Given the description of an element on the screen output the (x, y) to click on. 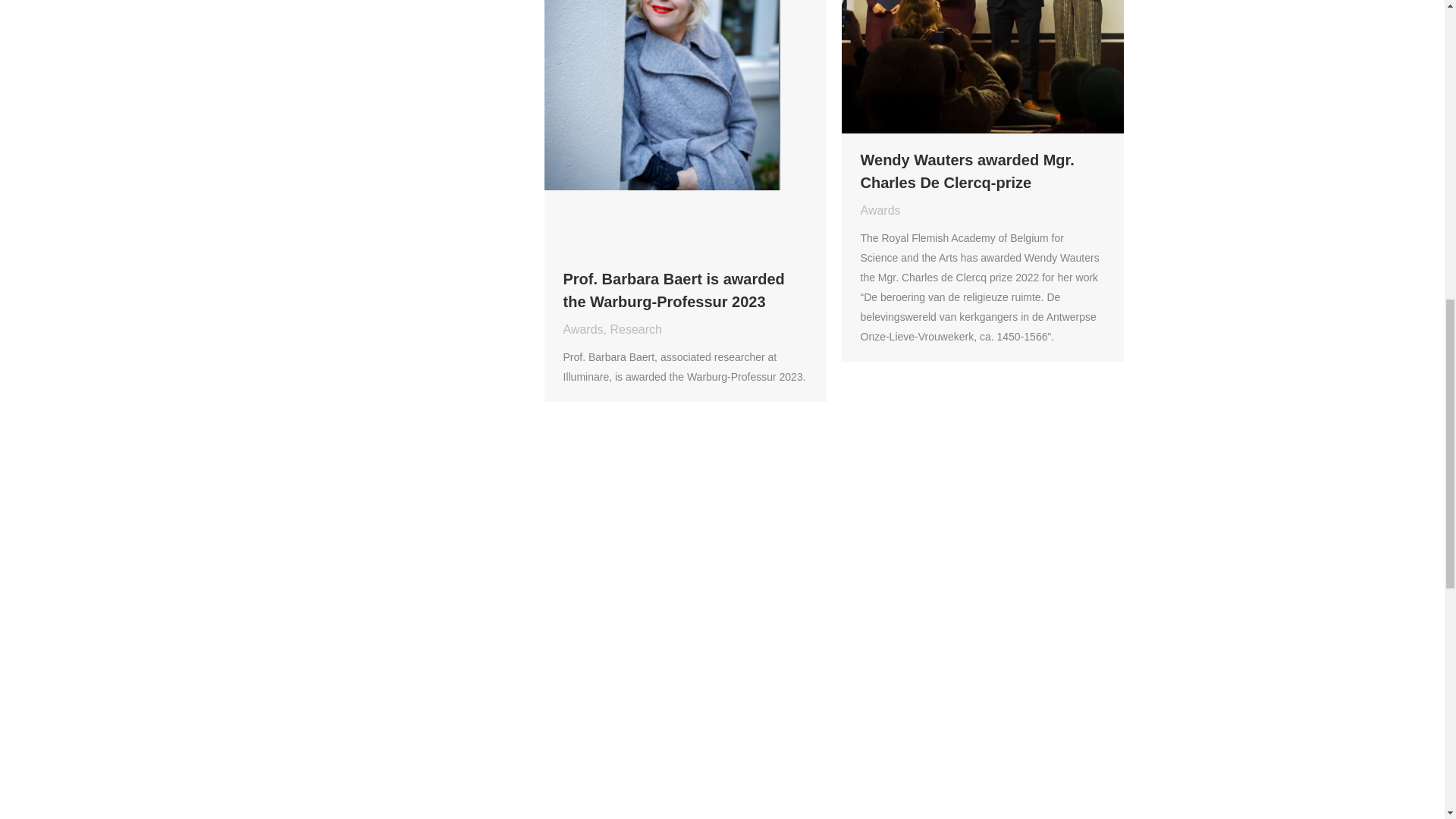
Prof. Barbara Baert is awarded the Warburg-Professur 2023 (684, 289)
Research (635, 328)
Prof. Barbara Baert is awarded the Warburg-Professur 2023 (684, 289)
Wendy Wauters awarded Mgr. Charles De Clercq-prize (981, 171)
Awards (879, 210)
Wendy Wauters awarded Mgr. Charles De Clercq-prize (981, 171)
Awards (582, 328)
